Given the description of an element on the screen output the (x, y) to click on. 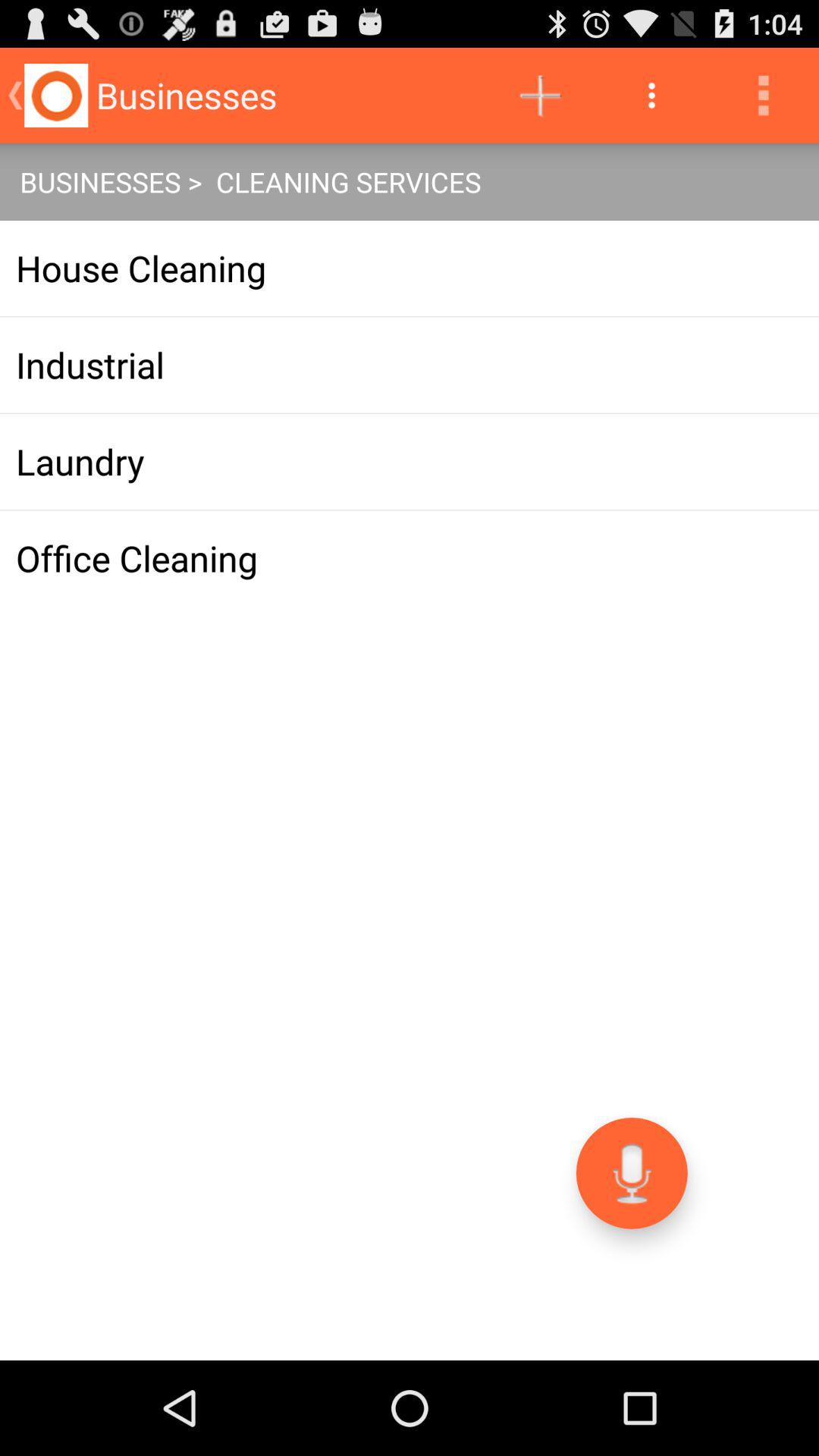
press the house cleaning item (409, 268)
